Given the description of an element on the screen output the (x, y) to click on. 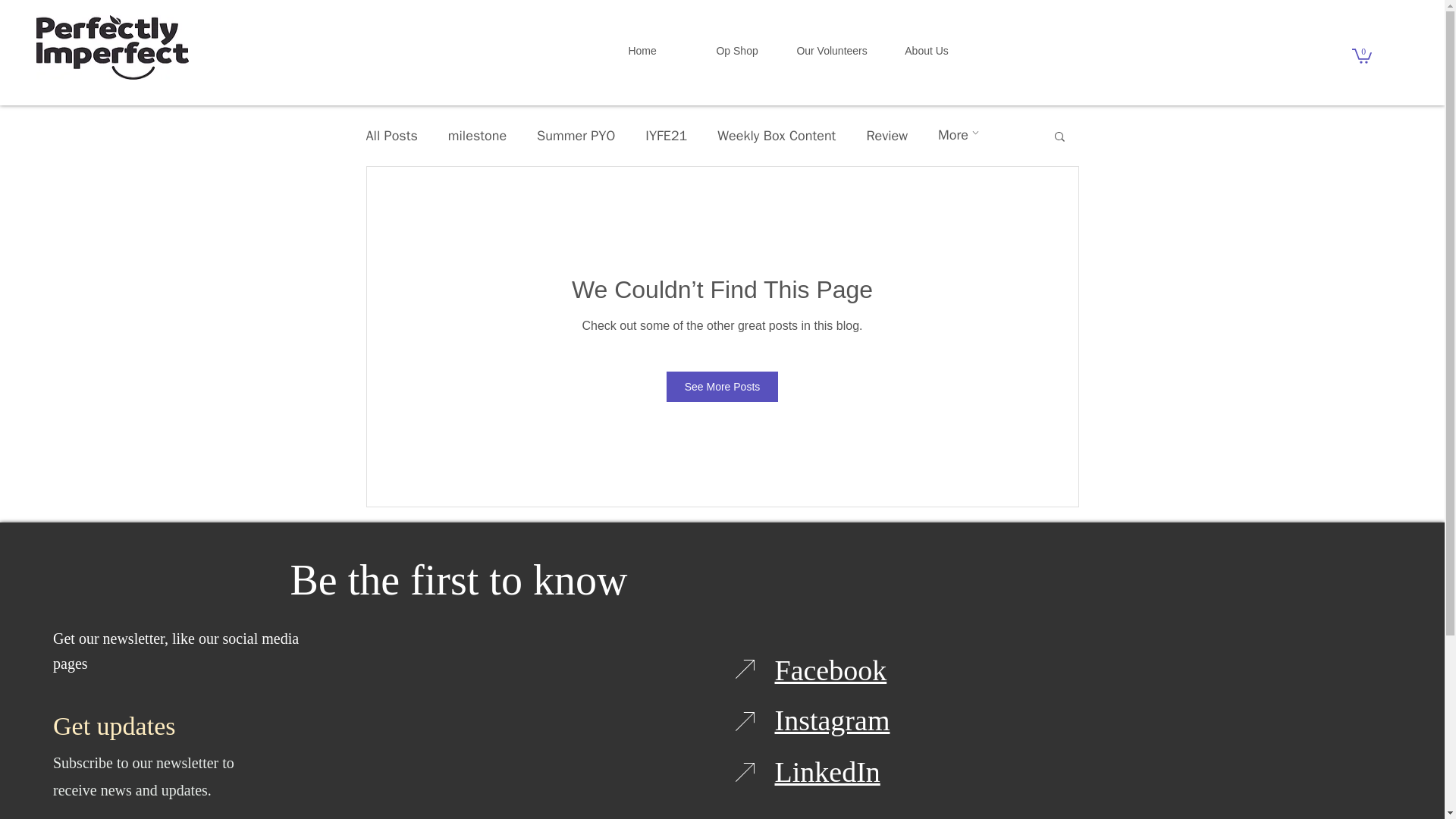
Facebook (830, 670)
Home (642, 50)
IYFE21 (666, 135)
0 (1361, 54)
0 (1361, 54)
Our Volunteers (831, 50)
Op Shop (737, 50)
All Posts (390, 135)
Review (886, 135)
LinkedIn (827, 771)
milestone (477, 135)
Weekly Box Content (776, 135)
Summer PYO (575, 135)
About Us (926, 50)
See More Posts (722, 386)
